Given the description of an element on the screen output the (x, y) to click on. 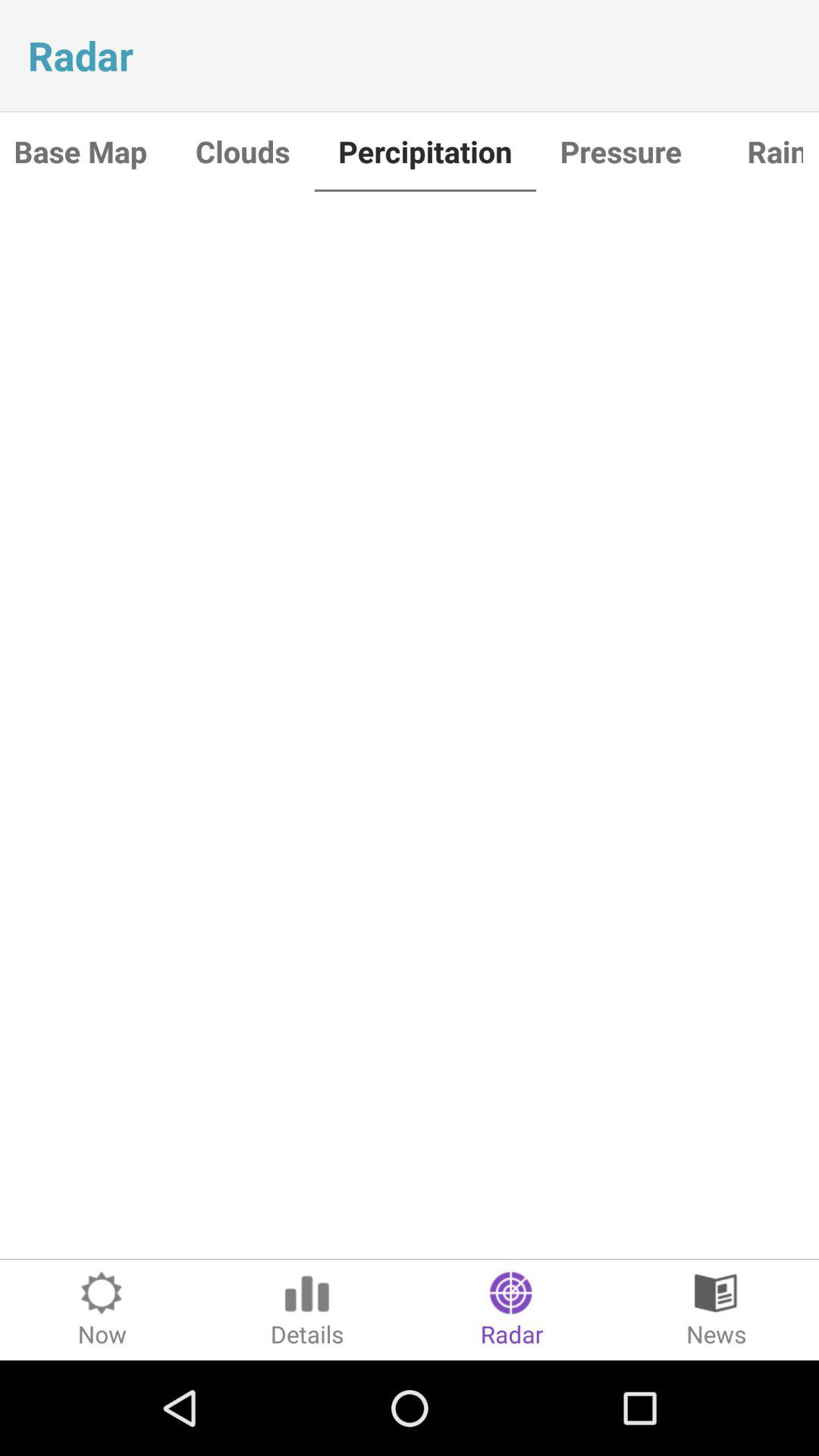
launch icon to the right of now (306, 1310)
